Given the description of an element on the screen output the (x, y) to click on. 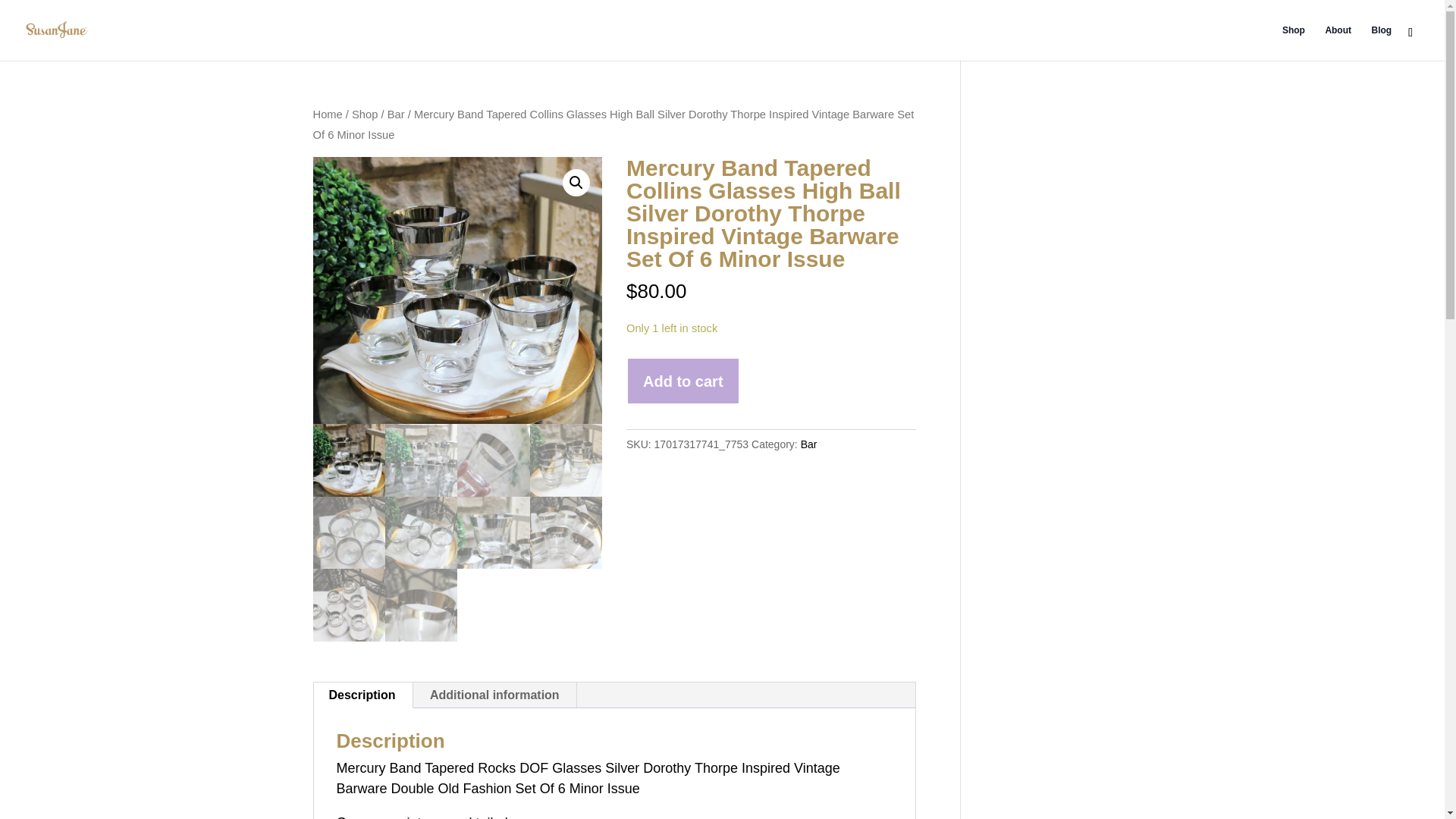
Shop (364, 114)
Additional information (494, 695)
Bar (808, 444)
Add to cart (682, 380)
Home (327, 114)
Bar (395, 114)
Description (362, 695)
